Given the description of an element on the screen output the (x, y) to click on. 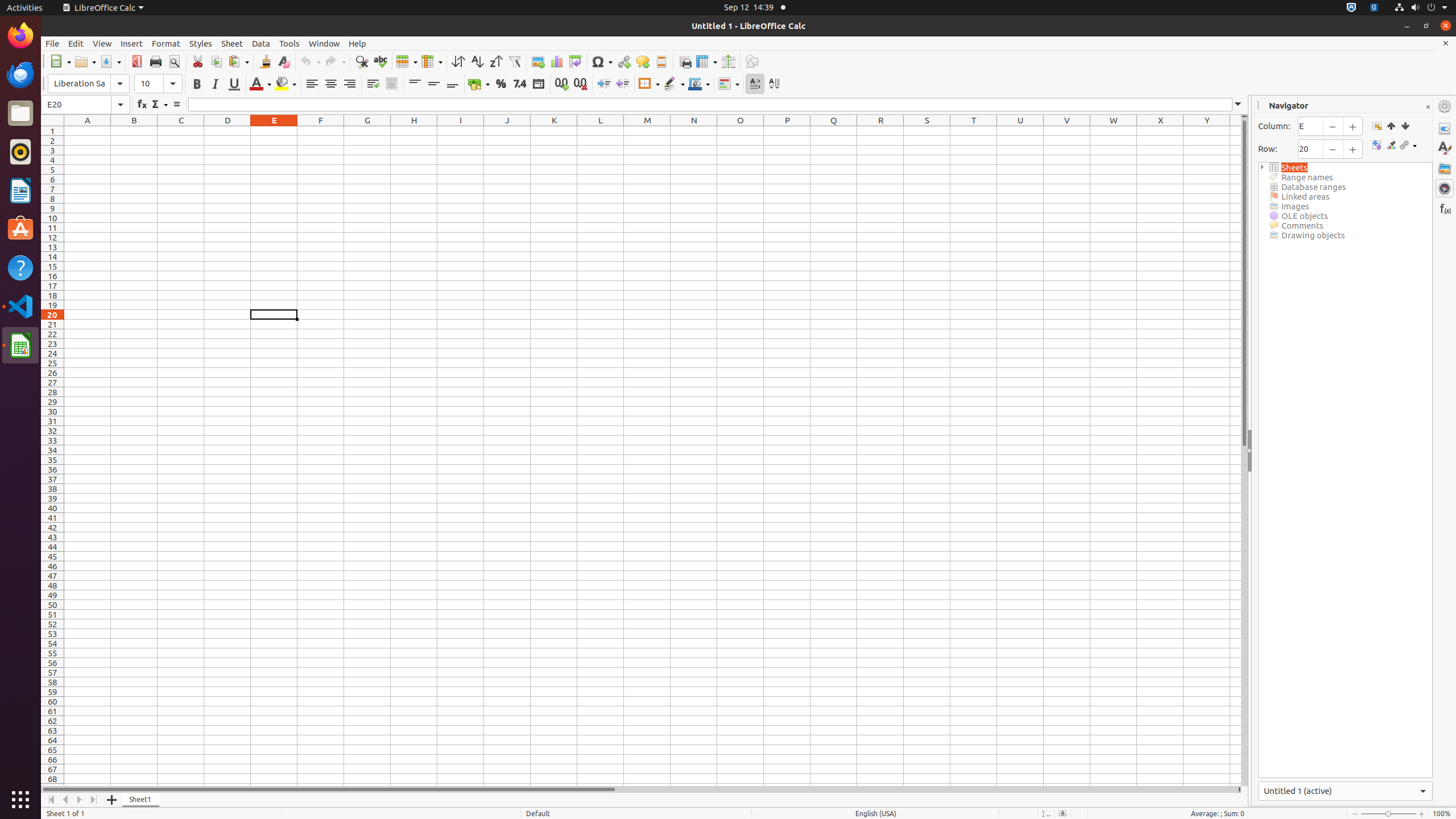
File Element type: menu (51, 43)
N1 Element type: table-cell (693, 130)
Sort Element type: push-button (457, 61)
Ubuntu Software Element type: push-button (20, 229)
D1 Element type: table-cell (227, 130)
